Given the description of an element on the screen output the (x, y) to click on. 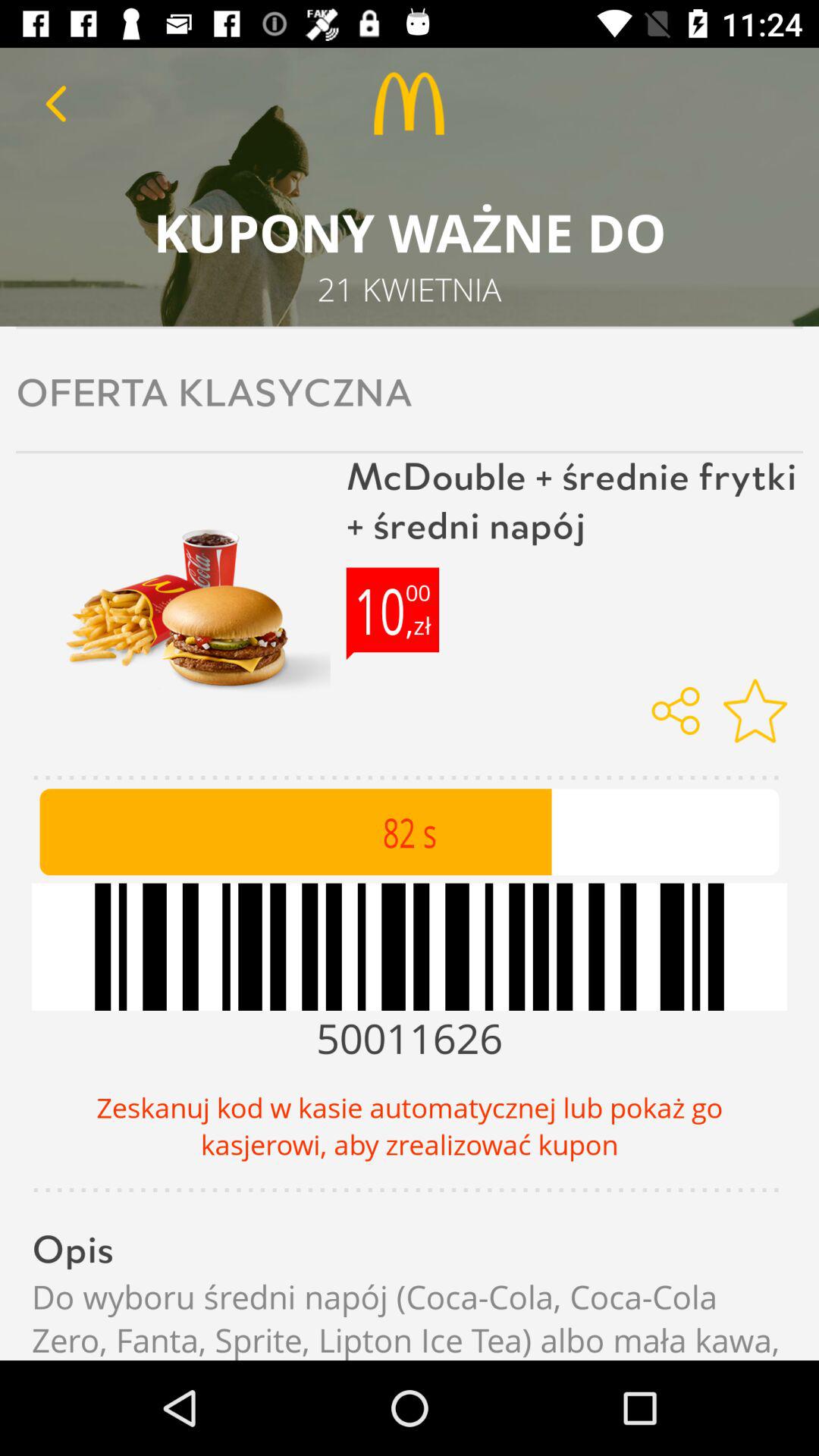
setting button (755, 710)
